Given the description of an element on the screen output the (x, y) to click on. 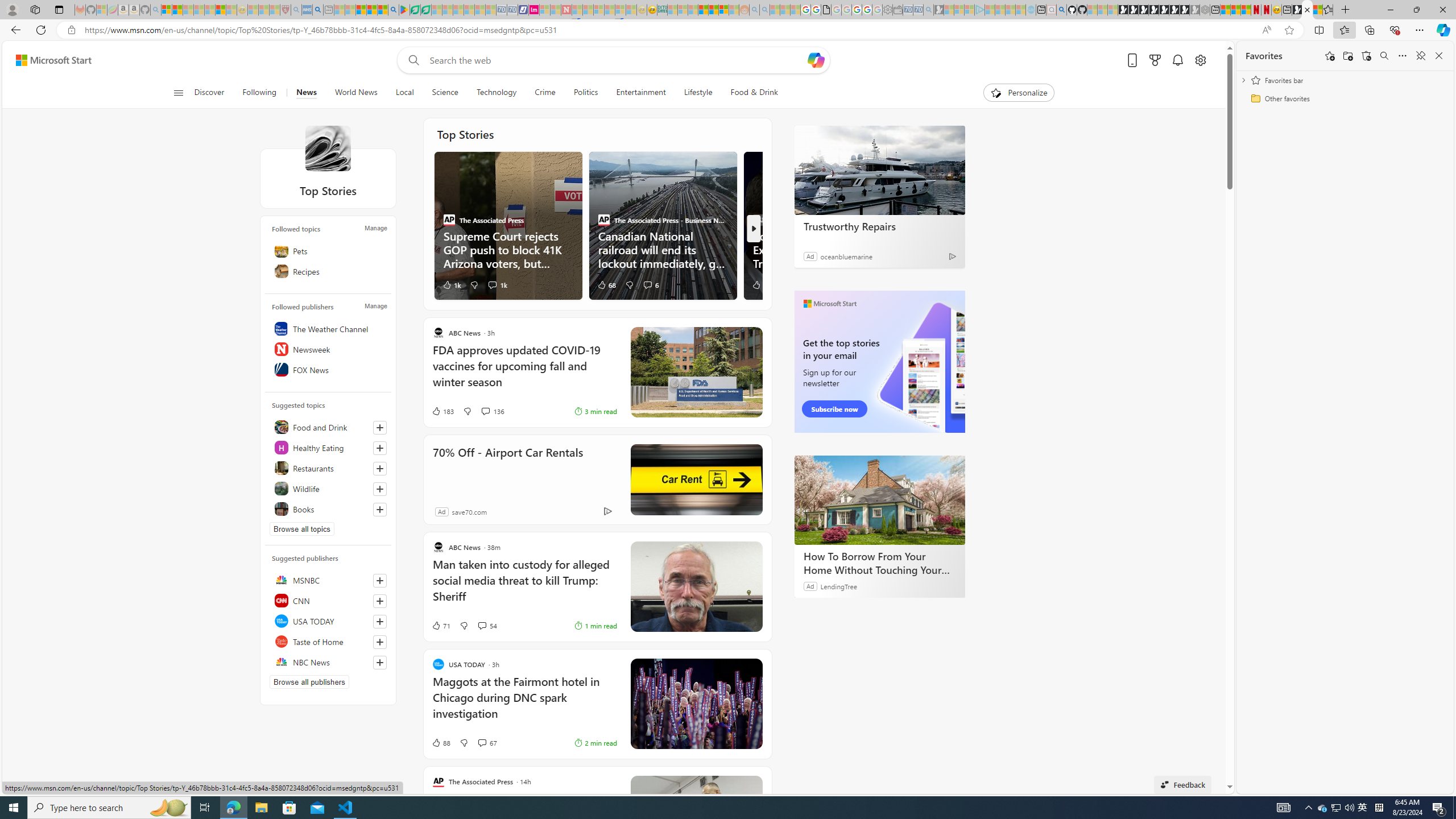
oceanbluemarine (845, 256)
